Given the description of an element on the screen output the (x, y) to click on. 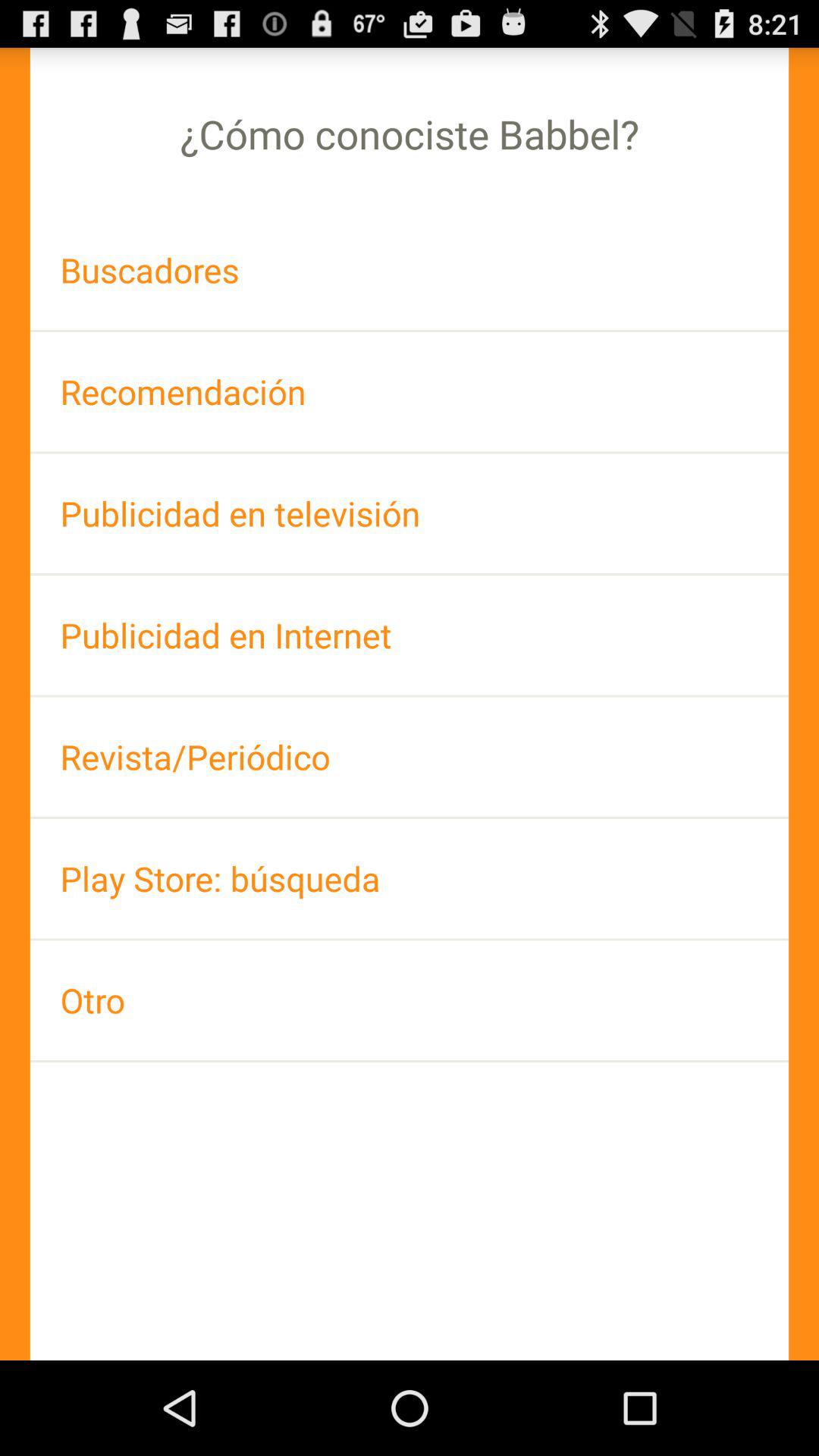
turn on the app below publicidad en internet (409, 756)
